Given the description of an element on the screen output the (x, y) to click on. 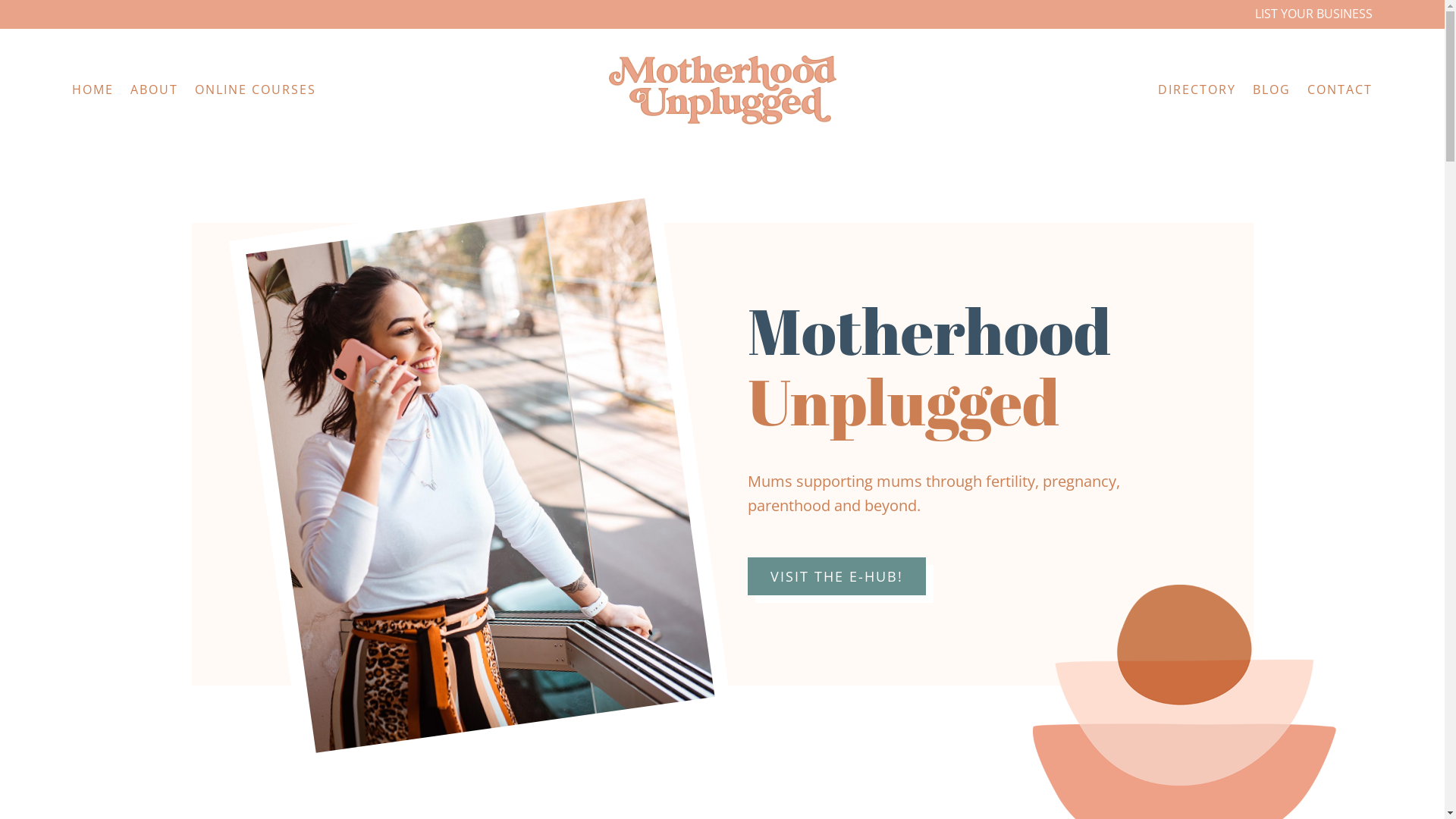
ONLINE COURSES Element type: text (255, 92)
ABOUT Element type: text (154, 92)
DIRECTORY Element type: text (1196, 92)
VISIT THE E-HUB! Element type: text (836, 576)
CONTACT Element type: text (1339, 92)
mateus-campos-felipe-mJEazX8mpqs-unsplash (1) Element type: hover (446, 450)
BLOG Element type: text (1271, 92)
motherhood unplugged Element type: hover (721, 89)
HOME Element type: text (92, 92)
